Given the description of an element on the screen output the (x, y) to click on. 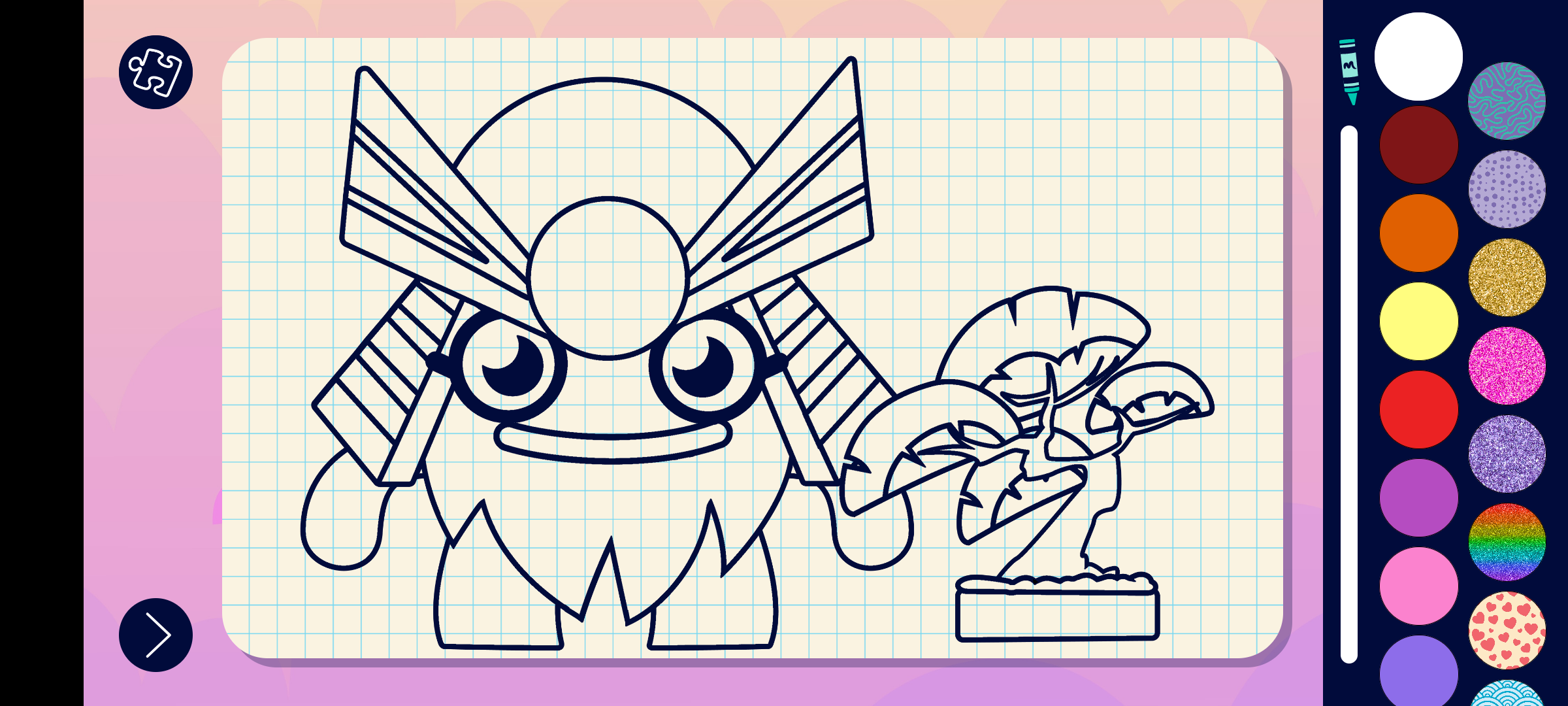
coloring background (1507, 101)
coloring background (1507, 189)
coloring background (1507, 277)
coloring background (1507, 365)
coloring background (1507, 454)
coloring background (1507, 542)
coloring background (1507, 630)
